Given the description of an element on the screen output the (x, y) to click on. 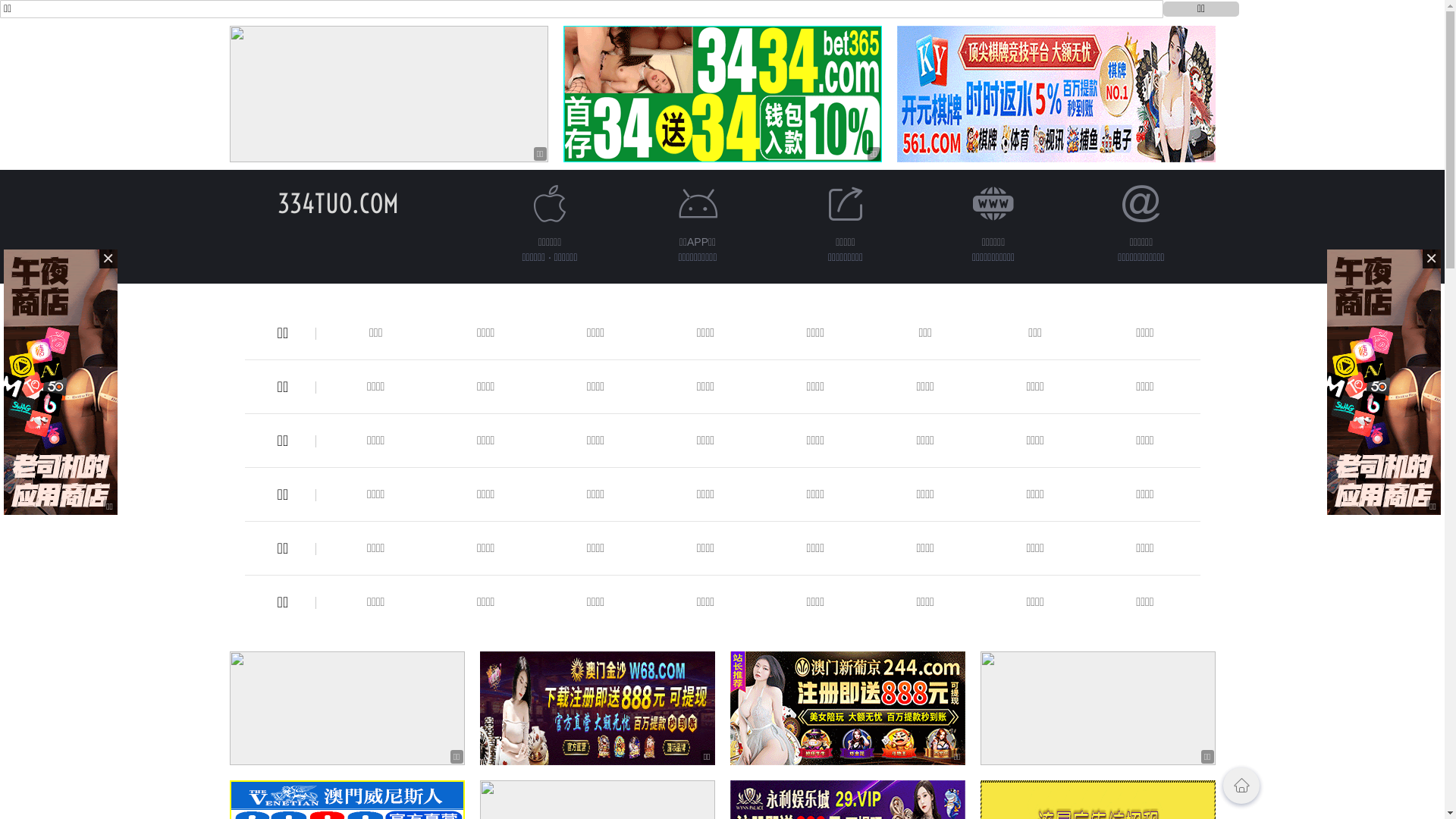
334TUO.COM Element type: text (337, 203)
